Given the description of an element on the screen output the (x, y) to click on. 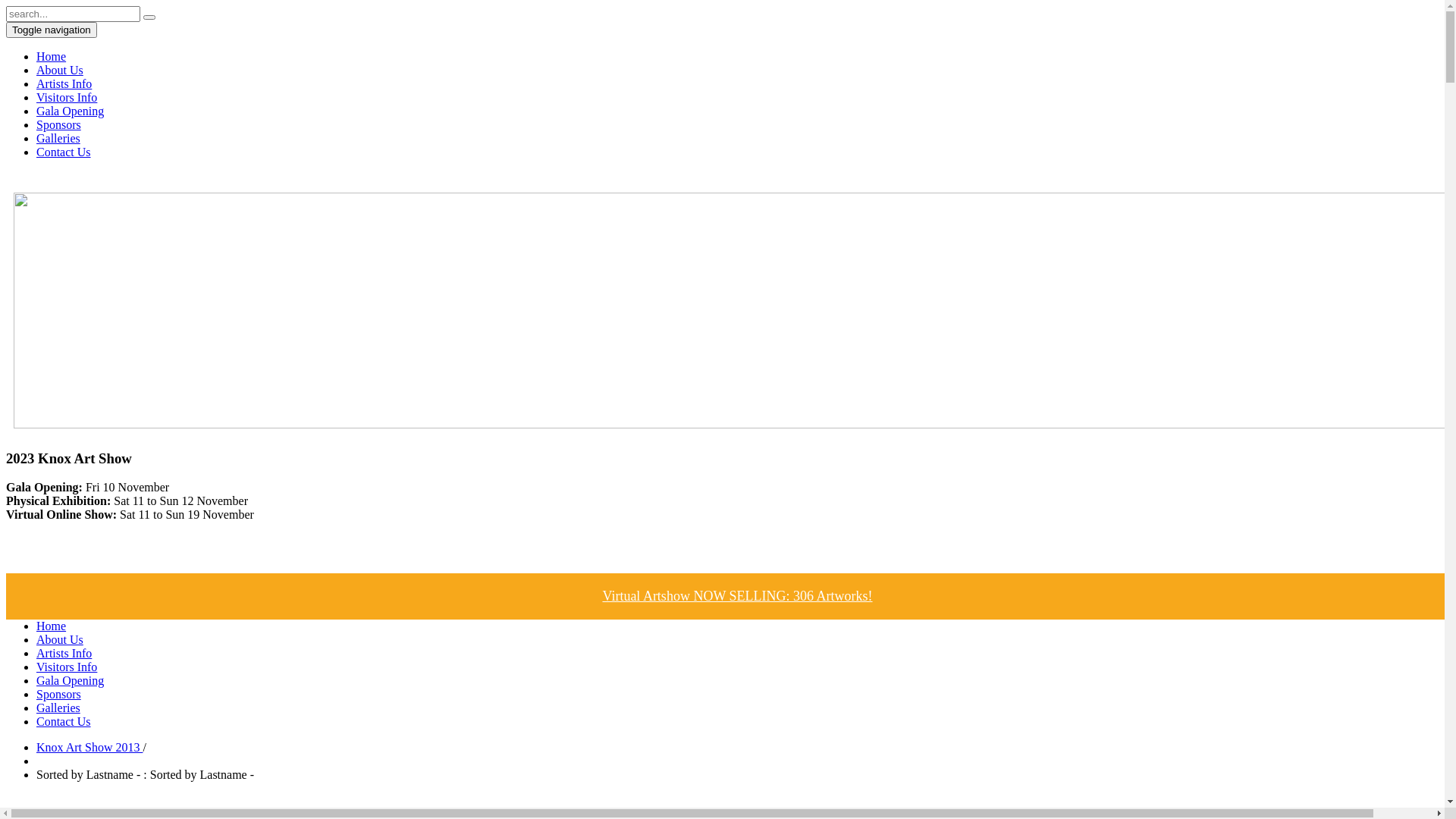
About Us Element type: text (59, 639)
Sponsors Element type: text (58, 693)
Artists Info Element type: text (63, 652)
Home Element type: text (50, 56)
Gala Opening Element type: text (69, 680)
Home Element type: text (50, 625)
Contact Us Element type: text (63, 721)
Visitors Info Element type: text (66, 666)
Knox Art Show 2013 Element type: text (89, 746)
Contact Us Element type: text (63, 151)
About Us Element type: text (59, 69)
Visitors Info Element type: text (66, 97)
Sponsors Element type: text (58, 124)
Gala Opening Element type: text (69, 110)
Artists Info Element type: text (63, 83)
Toggle navigation Element type: text (51, 29)
Galleries Element type: text (58, 707)
Galleries Element type: text (58, 137)
